Given the description of an element on the screen output the (x, y) to click on. 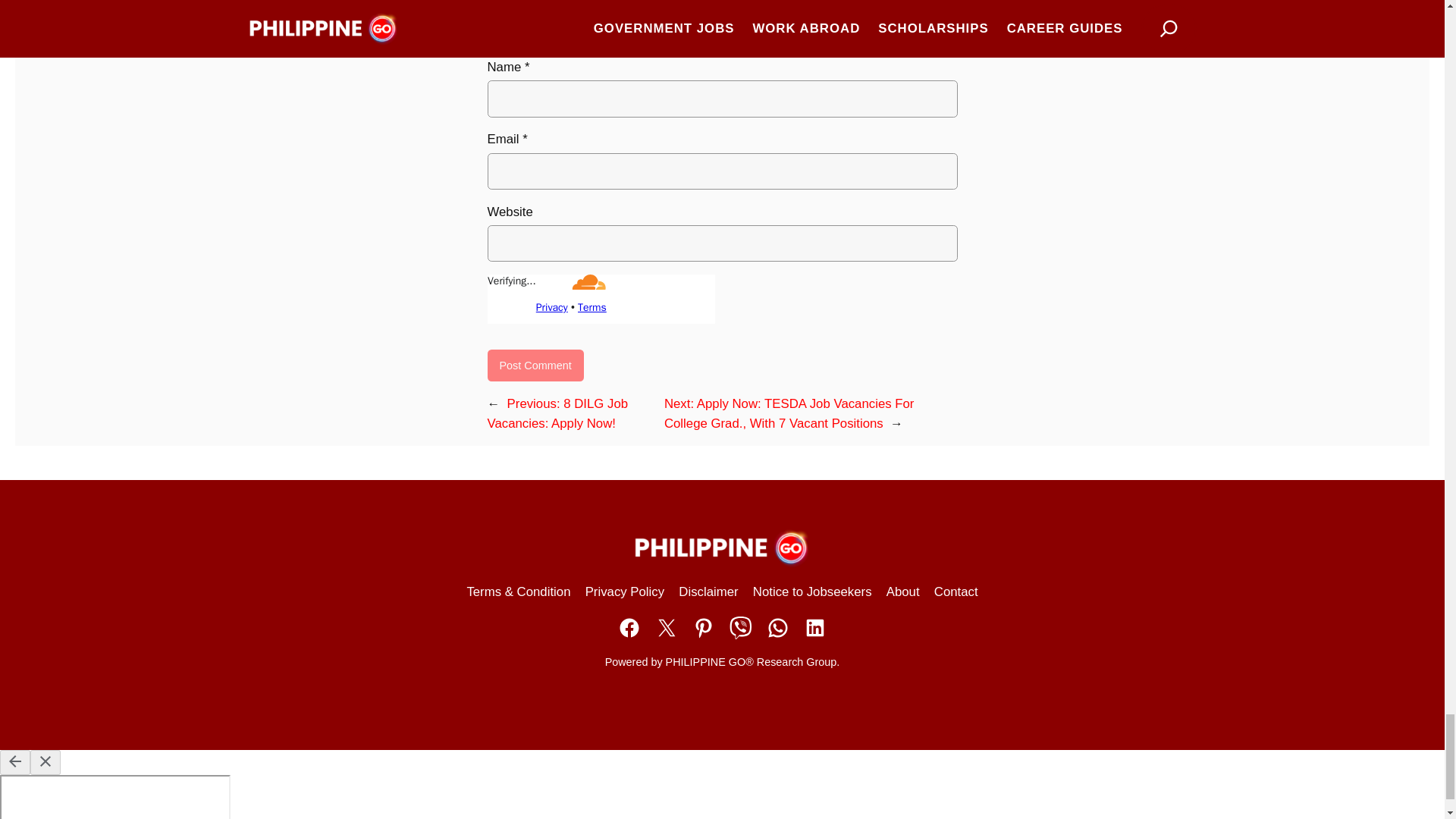
Disclaimer (708, 591)
Post Comment (534, 365)
About (903, 591)
Privacy Policy (624, 591)
Post Comment (534, 365)
Contact (956, 591)
Notice to Jobseekers (812, 591)
Previous: 8 DILG Job Vacancies: Apply Now! (556, 413)
Share on Facebook (628, 627)
